Given the description of an element on the screen output the (x, y) to click on. 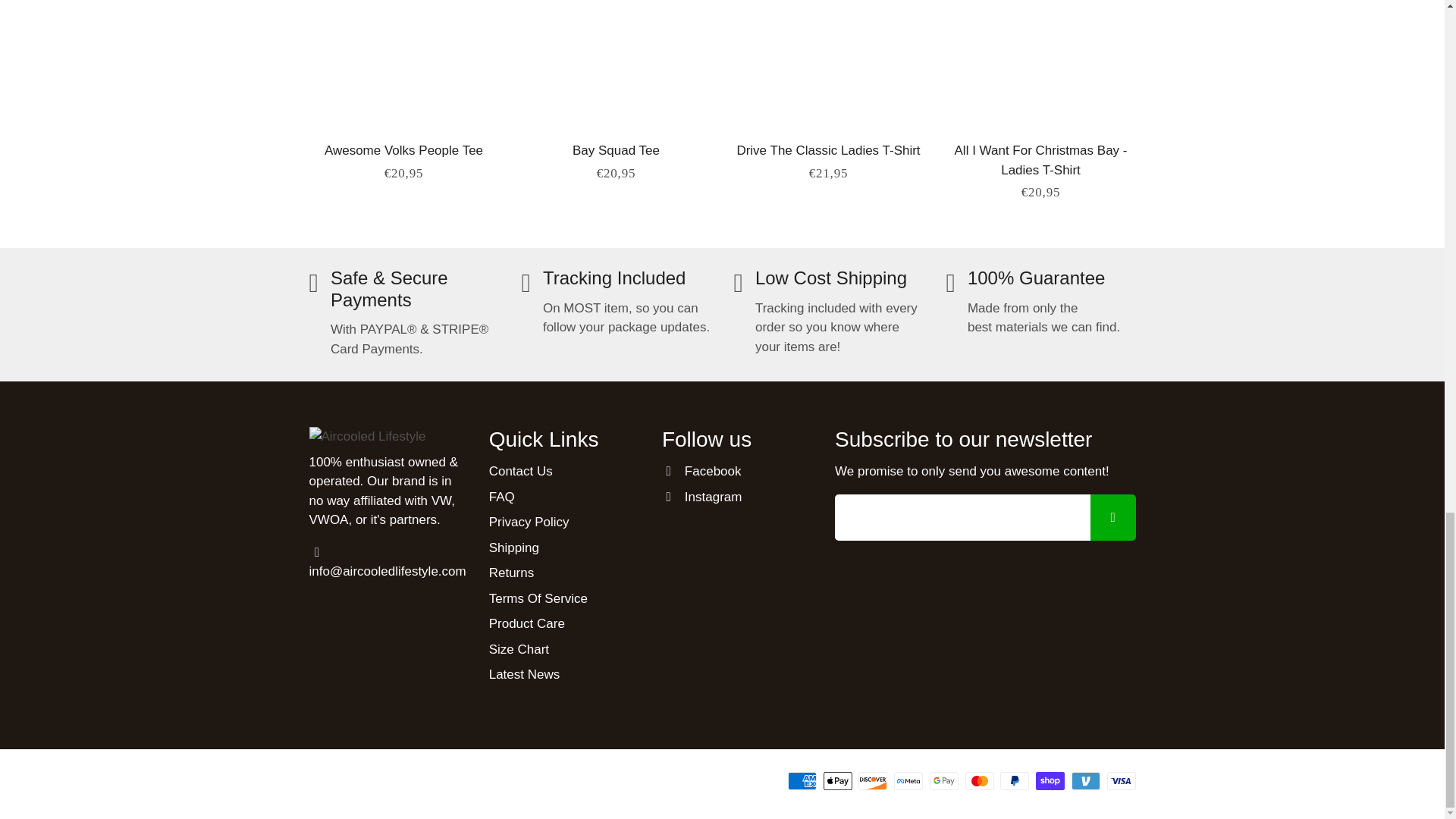
PayPal (1014, 781)
Aircooled Lifestyle on Facebook (701, 471)
Meta Pay (908, 781)
Discover (872, 781)
Visa (1120, 781)
Aircooled Lifestyle on Instagram (702, 496)
Apple Pay (837, 781)
Shop Pay (1049, 781)
Google Pay (944, 781)
American Express (801, 781)
Venmo (1085, 781)
Mastercard (979, 781)
